Given the description of an element on the screen output the (x, y) to click on. 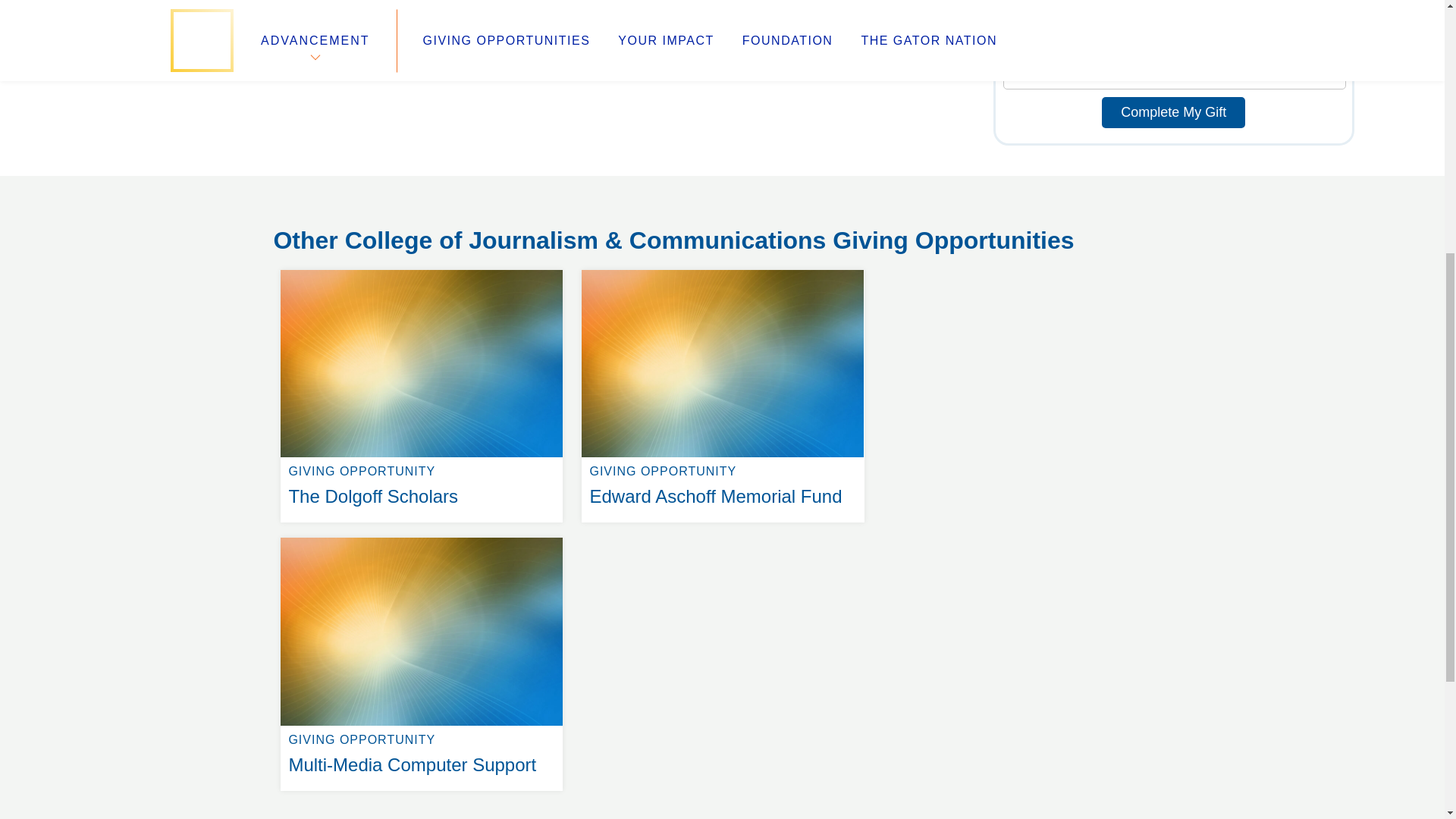
Disclosures (537, 258)
Privacy Policy (545, 240)
Advancement HUB (421, 537)
Foundation Board (560, 204)
Join Our Team (327, 240)
Complete My Gift (721, 269)
Staff Directory (317, 204)
Advancement Toolkit (421, 269)
Contact Us (1173, 112)
University of Florida (316, 222)
